Given the description of an element on the screen output the (x, y) to click on. 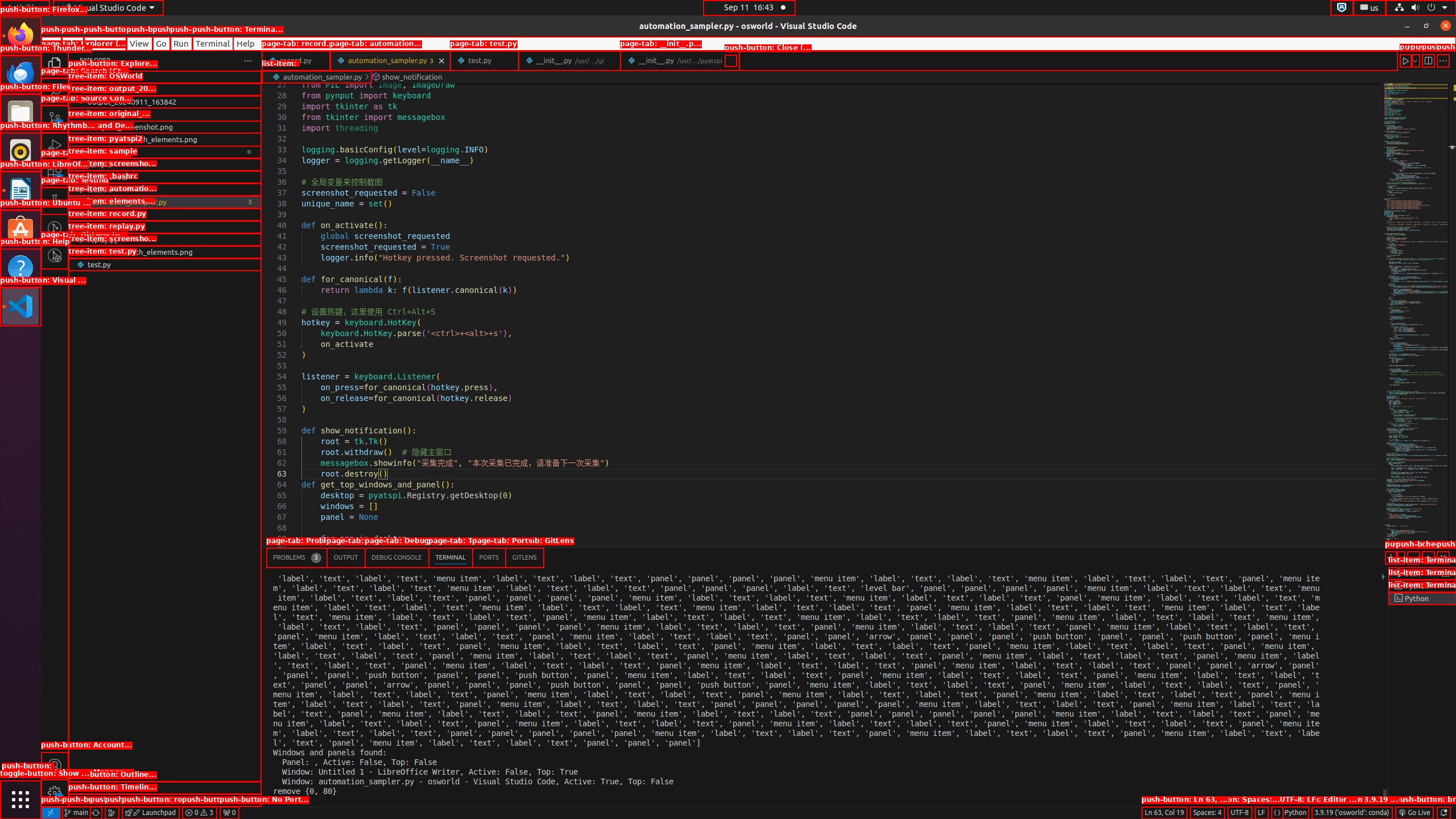
original_screenshot.png Element type: tree-item (164, 126)
record.py Element type: page-tab (295, 60)
Explorer Section: osworld Element type: push-button (164, 76)
record.py Element type: tree-item (164, 226)
Terminal 2 Python Element type: list-item (1422, 585)
